Given the description of an element on the screen output the (x, y) to click on. 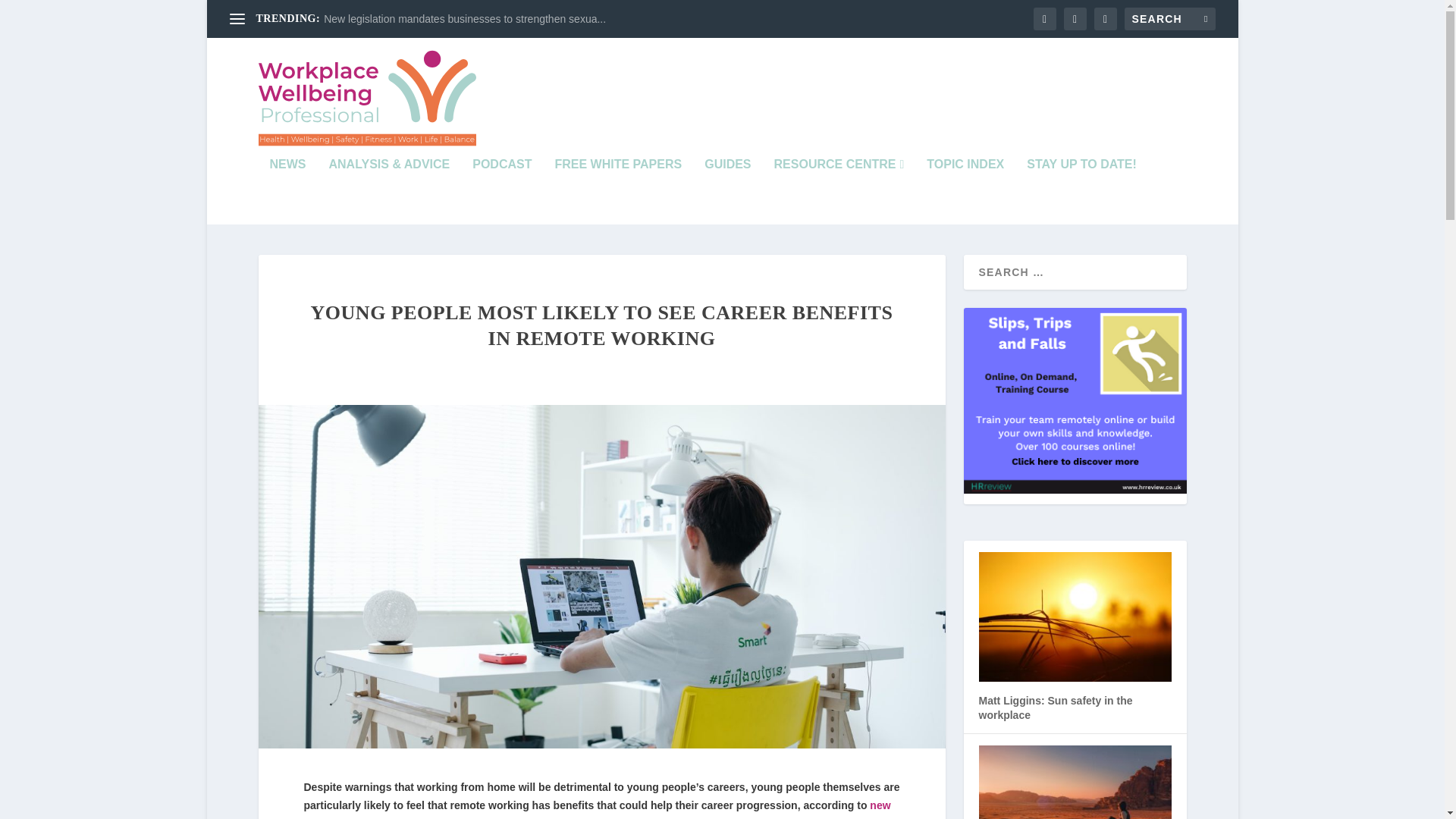
TOPIC INDEX (965, 191)
RESOURCE CENTRE (839, 191)
New legislation mandates businesses to strengthen sexua... (464, 19)
FREE WHITE PAPERS (617, 191)
new research (595, 809)
